Given the description of an element on the screen output the (x, y) to click on. 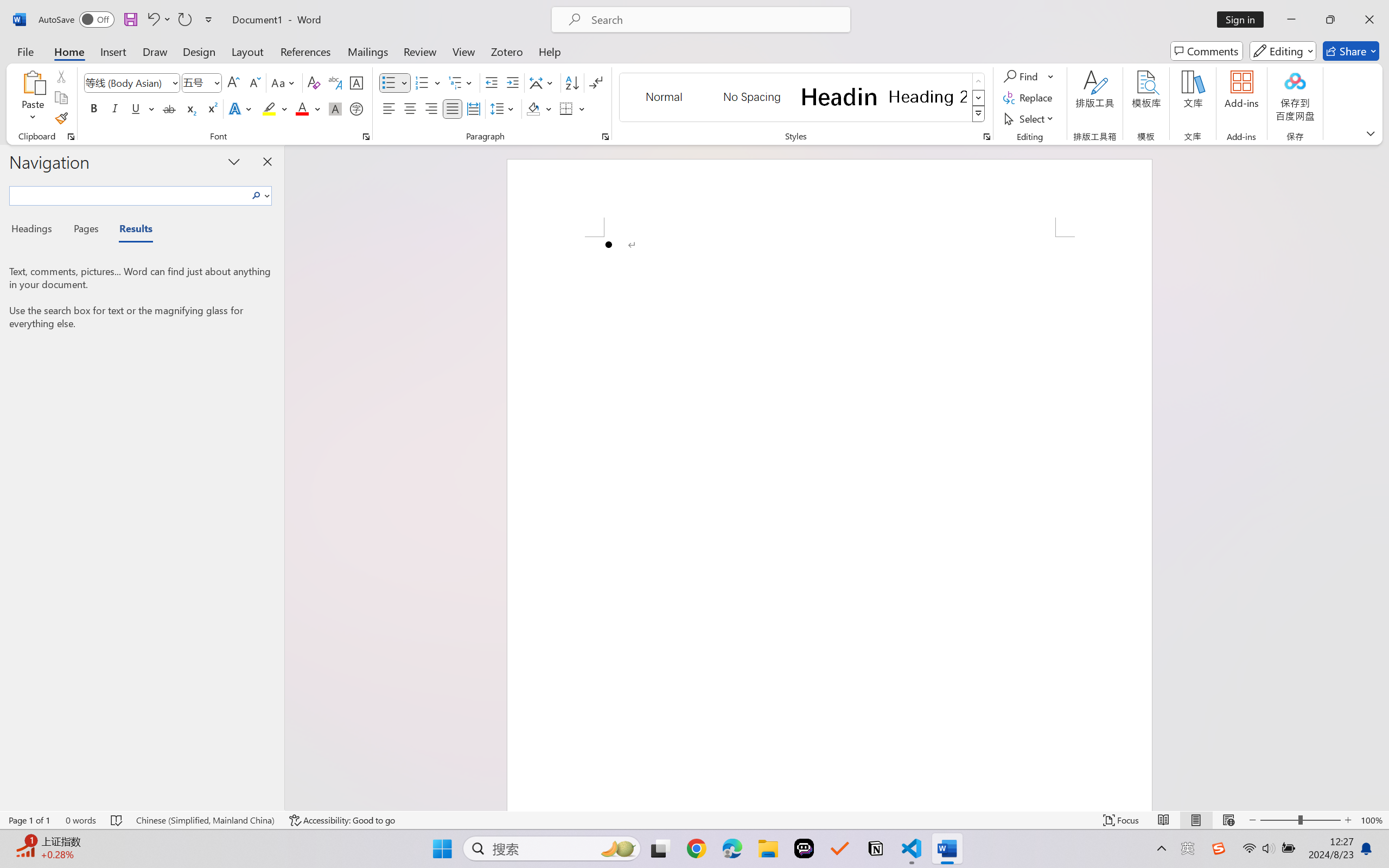
Results (130, 229)
